Given the description of an element on the screen output the (x, y) to click on. 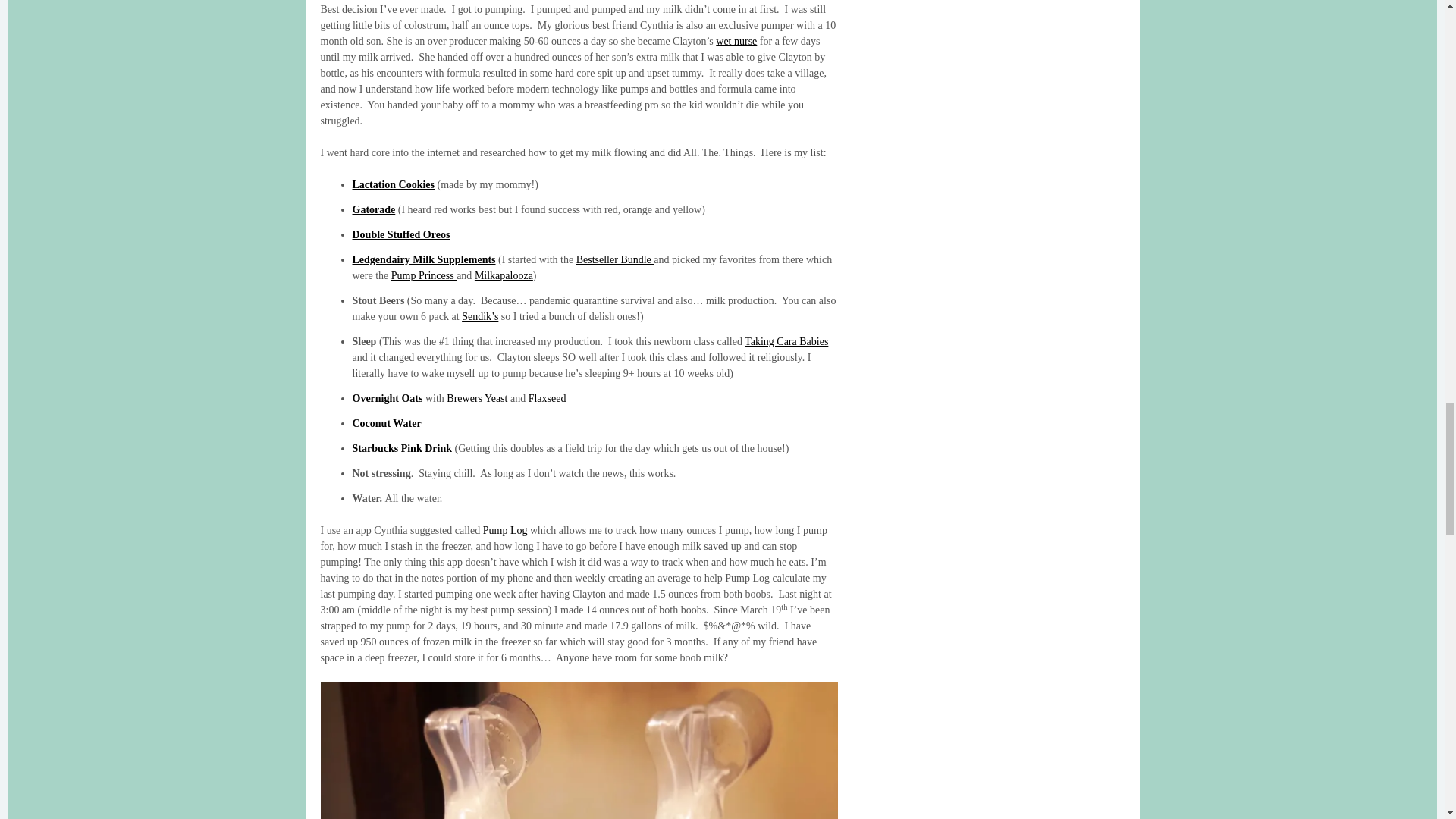
Milkapalooza (503, 275)
Pump Log (505, 530)
Bestseller Bundle (614, 259)
Gatorade (373, 209)
Flaxseed (547, 398)
wet nurse (736, 41)
Double Stuffed Oreos (400, 234)
Taking Cara Babies (786, 341)
Lactation Cookies (392, 184)
Starbucks Pink Drink (401, 448)
